Given the description of an element on the screen output the (x, y) to click on. 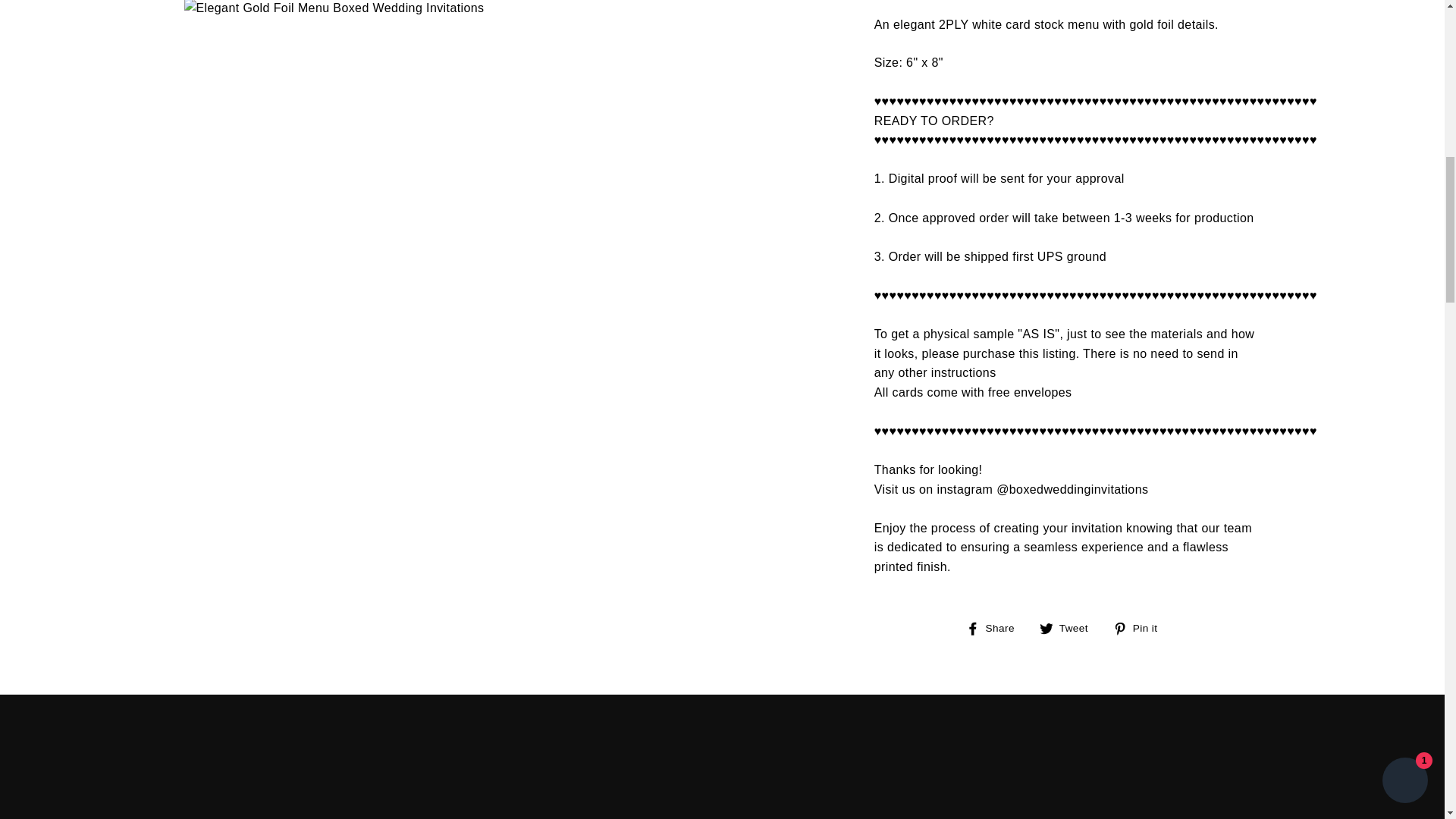
Tweet on Twitter (1069, 628)
Share on Facebook (1141, 628)
Pin on Pinterest (996, 628)
